Given the description of an element on the screen output the (x, y) to click on. 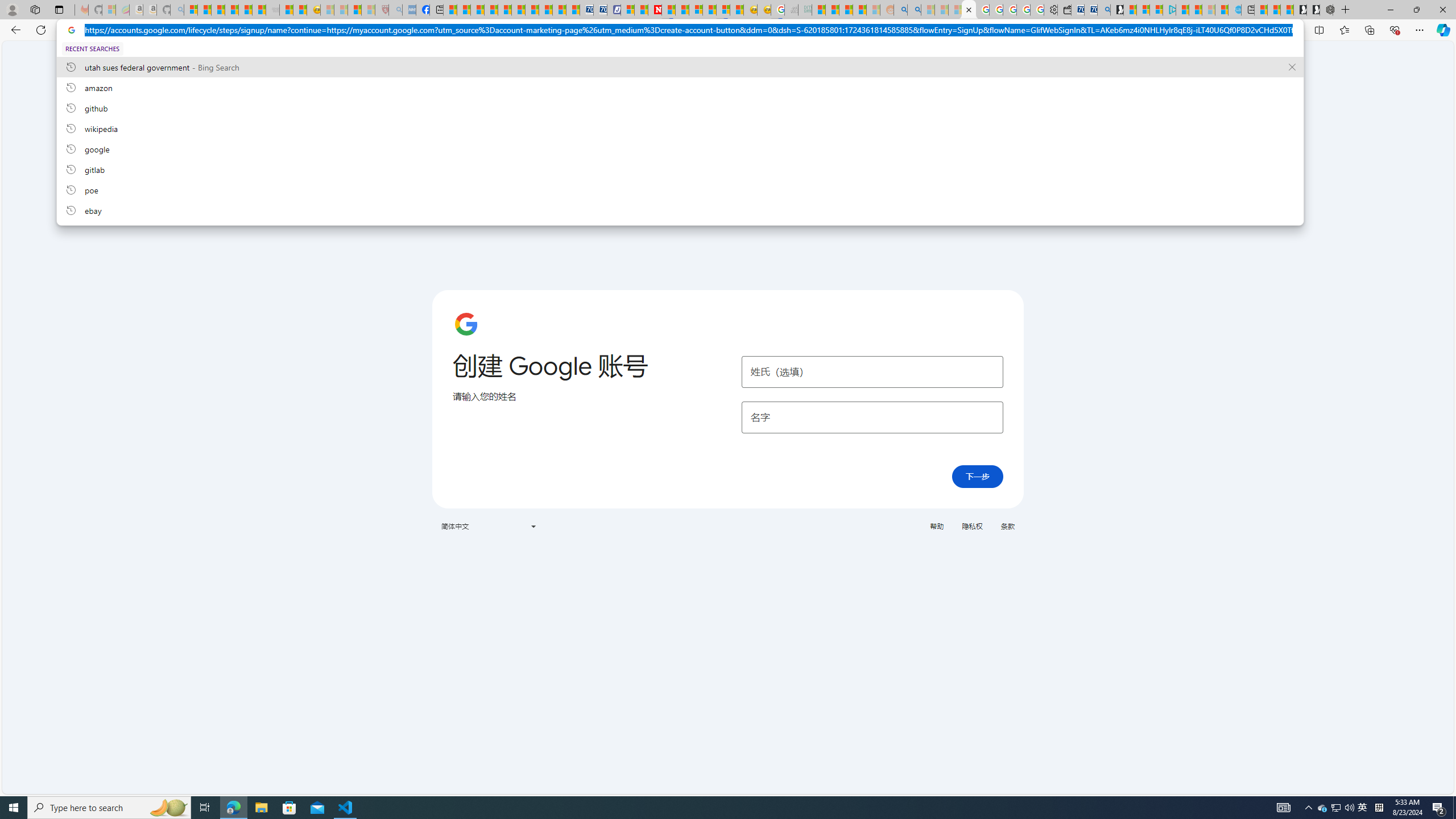
gitlab, recent searches from history (679, 168)
Latest Politics News & Archive | Newsweek.com (654, 9)
